Given the description of an element on the screen output the (x, y) to click on. 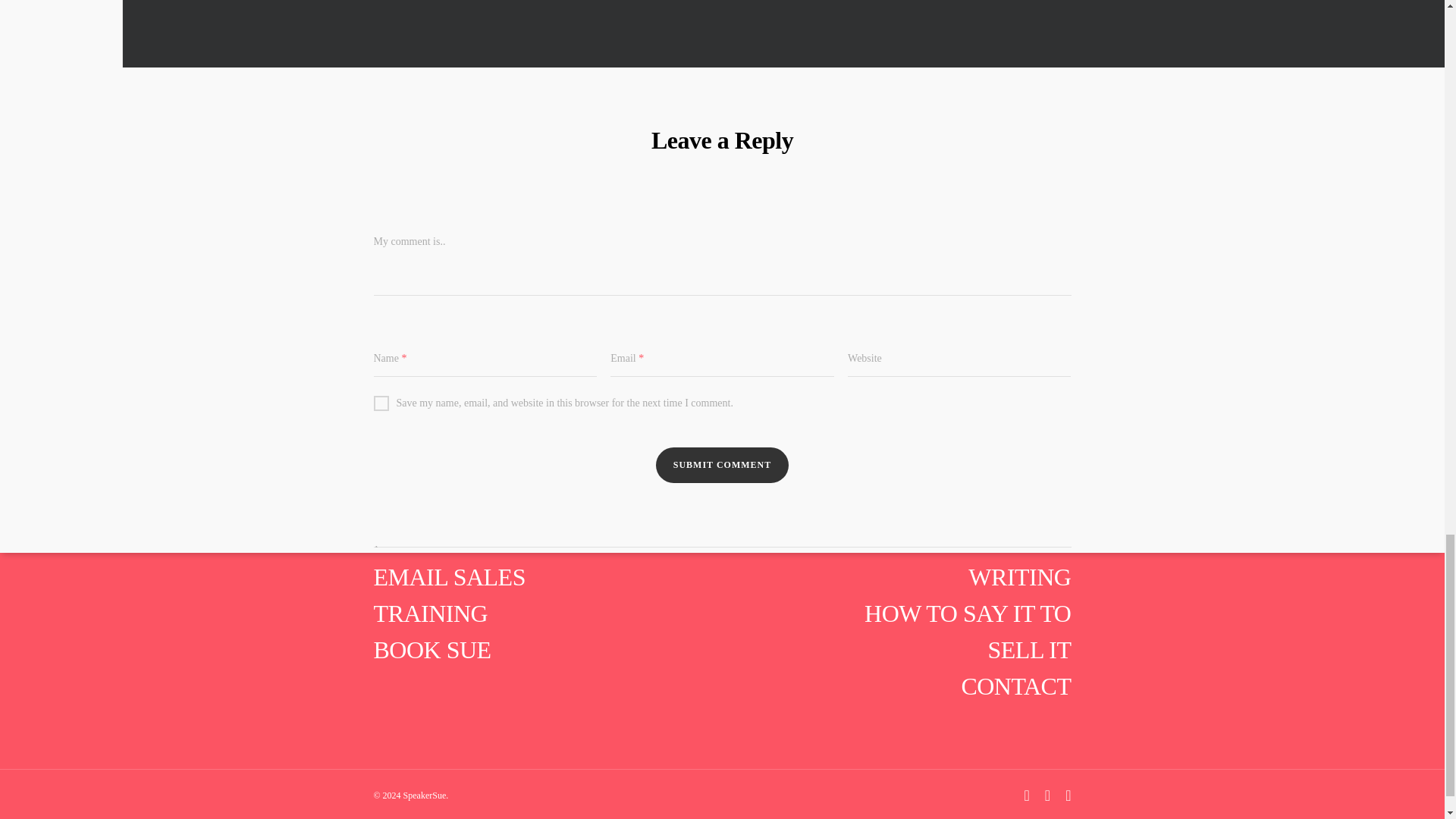
Cold Calling Made Simple (788, 33)
Submit Comment (722, 465)
Submit Comment (722, 465)
